Given the description of an element on the screen output the (x, y) to click on. 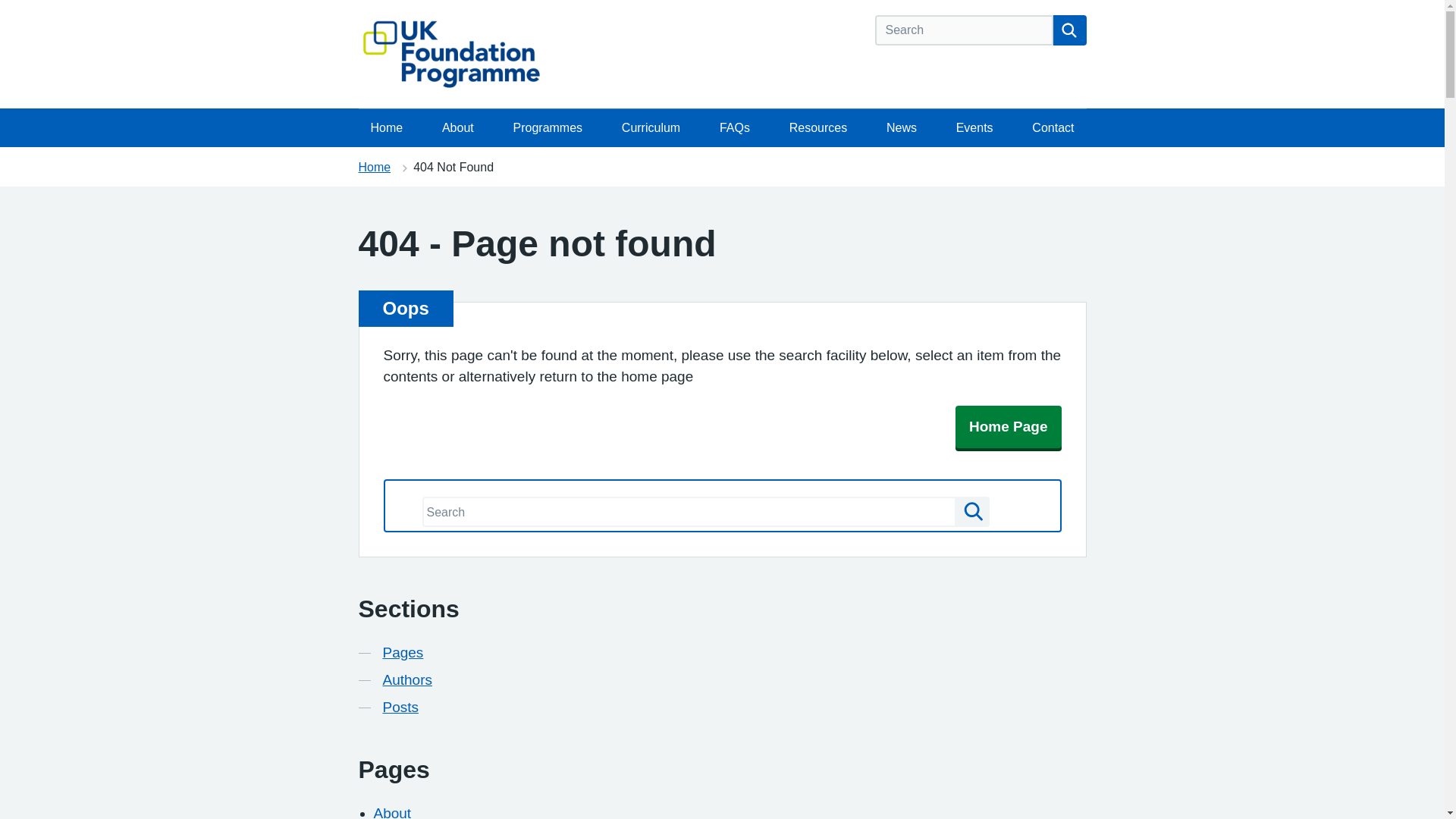
News (901, 127)
FAQs (734, 127)
Home Page (1008, 426)
Search (971, 511)
Curriculum (651, 127)
Posts (400, 707)
Pages (402, 652)
Resources (818, 127)
About (391, 812)
Programmes (547, 127)
Home (374, 166)
Home (386, 127)
Contact (1053, 127)
Search (1069, 30)
Authors (405, 680)
